Given the description of an element on the screen output the (x, y) to click on. 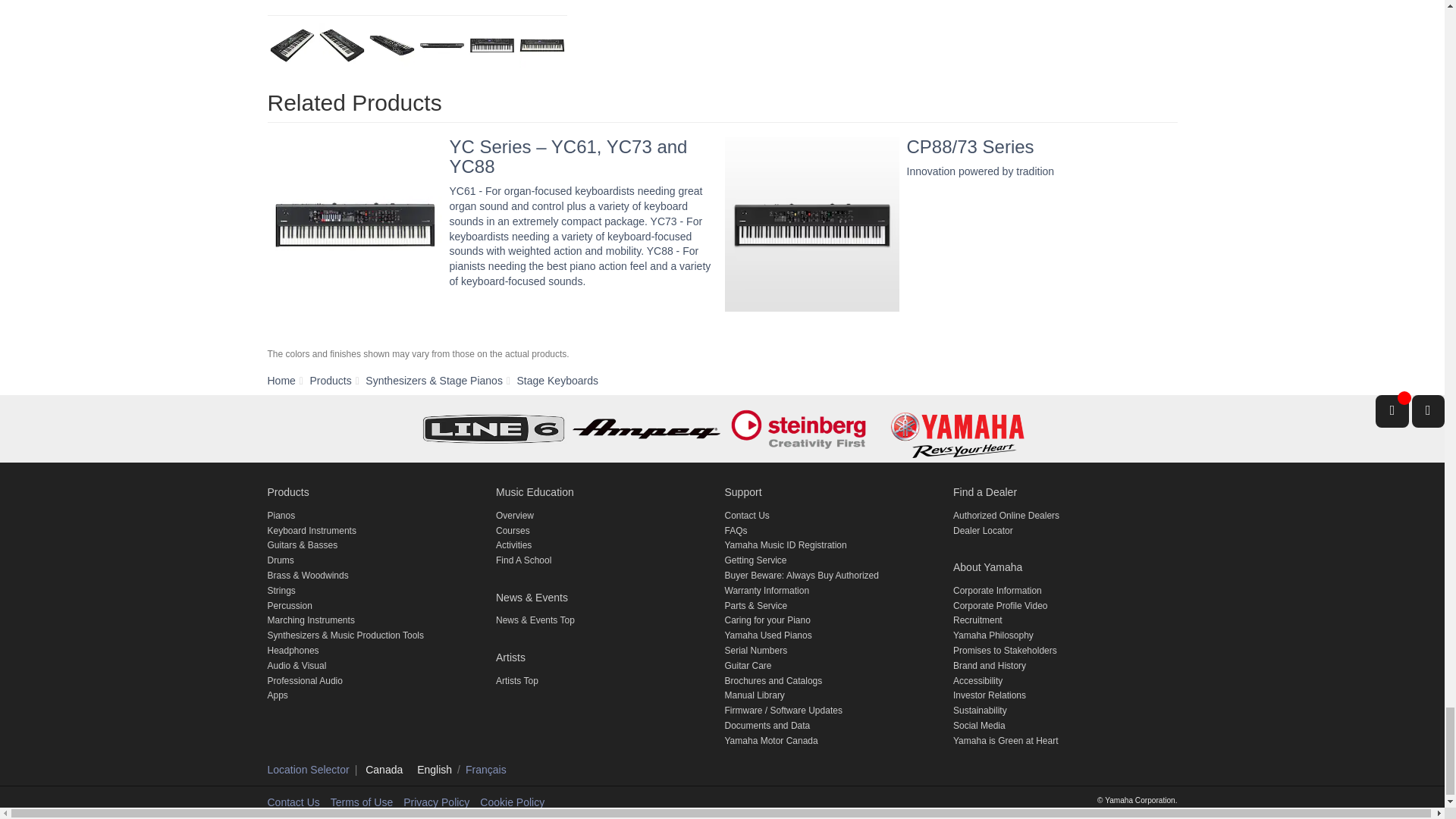
Yamaha CK61 (341, 44)
Yamaha CK61 (491, 44)
Yamaha CK61 (391, 44)
Yamaha CK61 (416, 3)
Yamaha CK61 (441, 44)
Yamaha CK61 (292, 44)
